Given the description of an element on the screen output the (x, y) to click on. 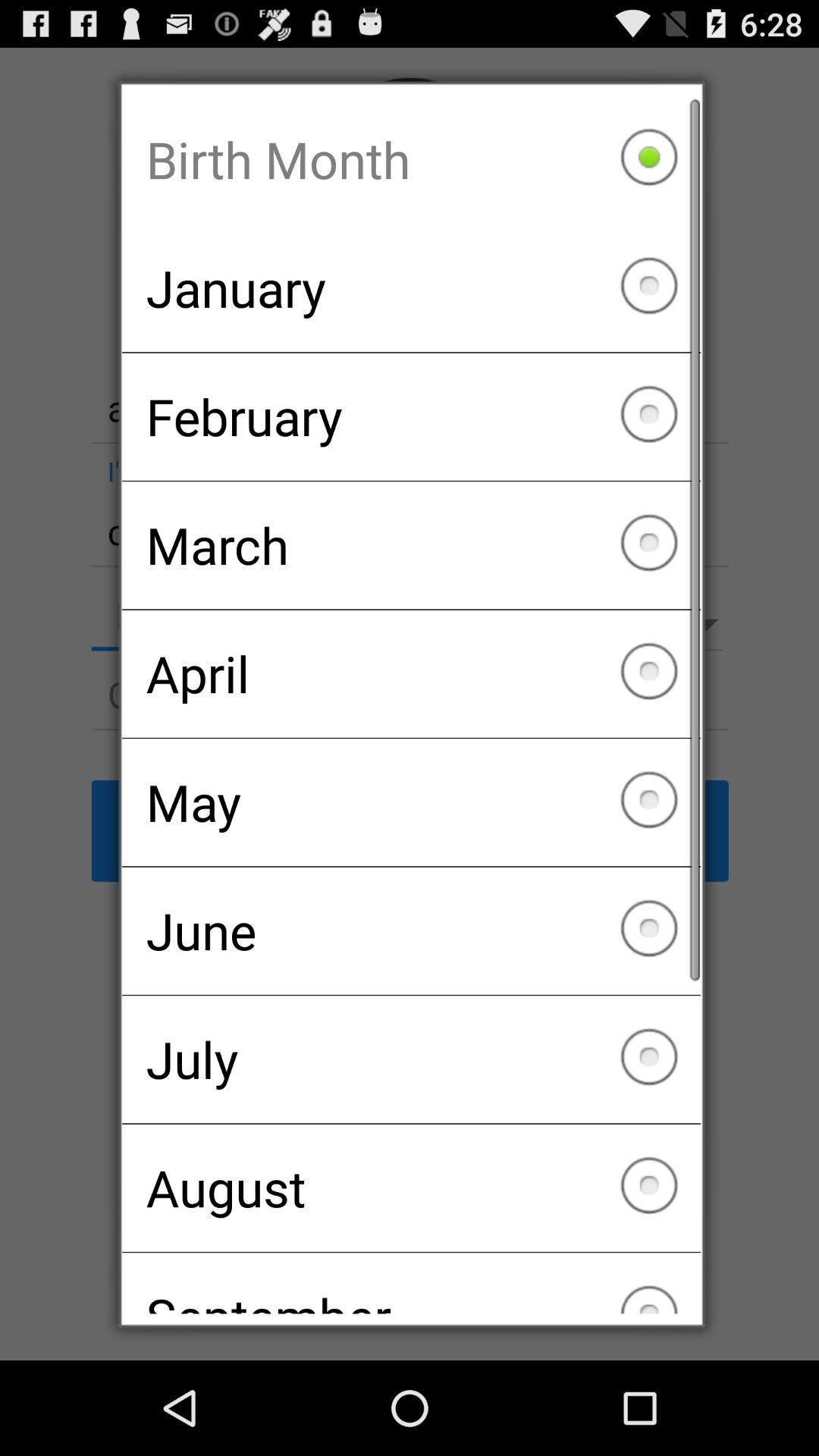
click item below january (411, 416)
